Given the description of an element on the screen output the (x, y) to click on. 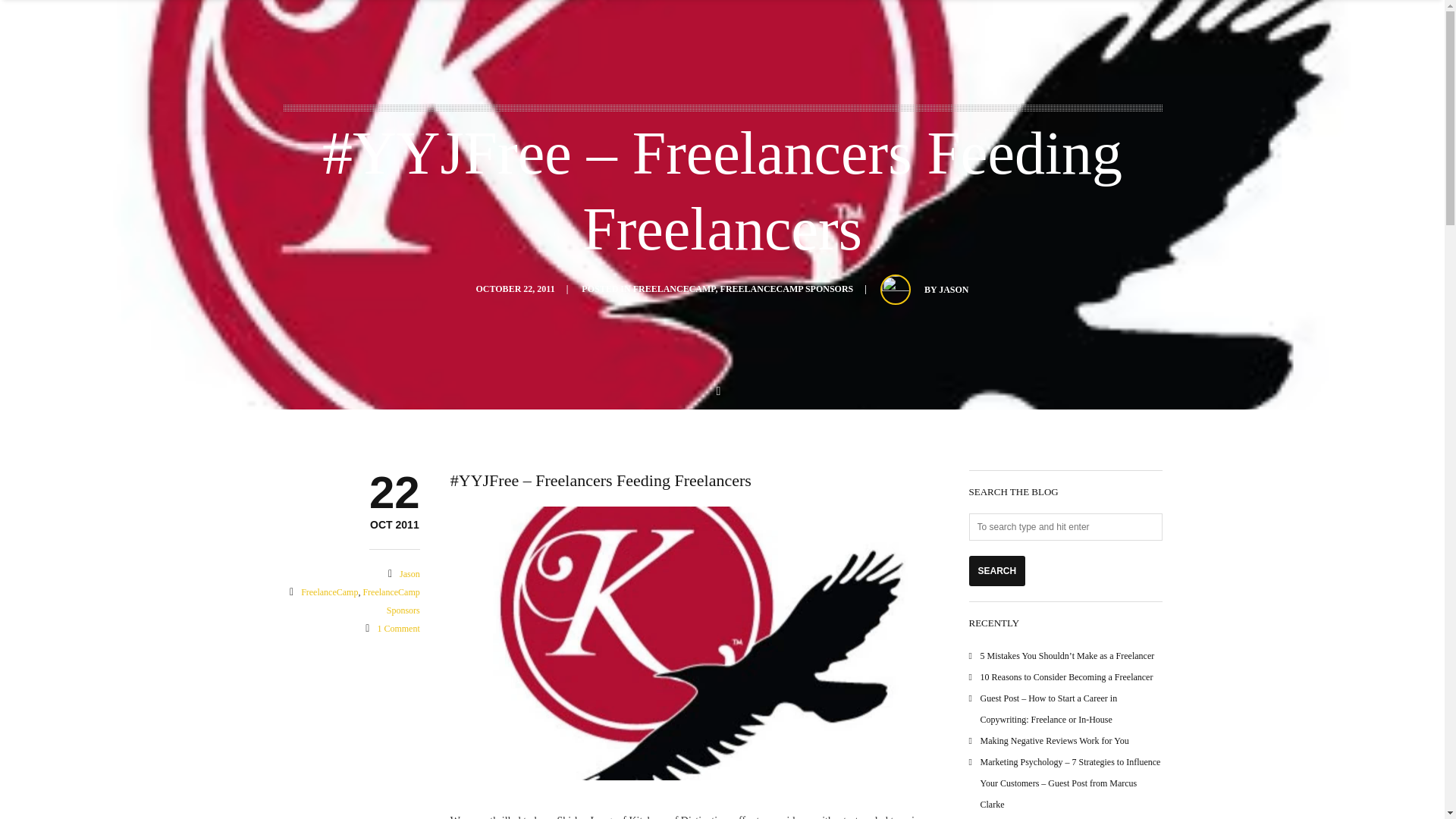
View all posts in FreelanceCamp Sponsors (394, 525)
JASON (786, 288)
1 Comment (953, 289)
Search (398, 628)
View all posts in FreelanceCamp (997, 571)
FREELANCECAMP SPONSORS (674, 288)
Search for: (786, 288)
Search (1065, 526)
FreelanceCamp (997, 571)
